Given the description of an element on the screen output the (x, y) to click on. 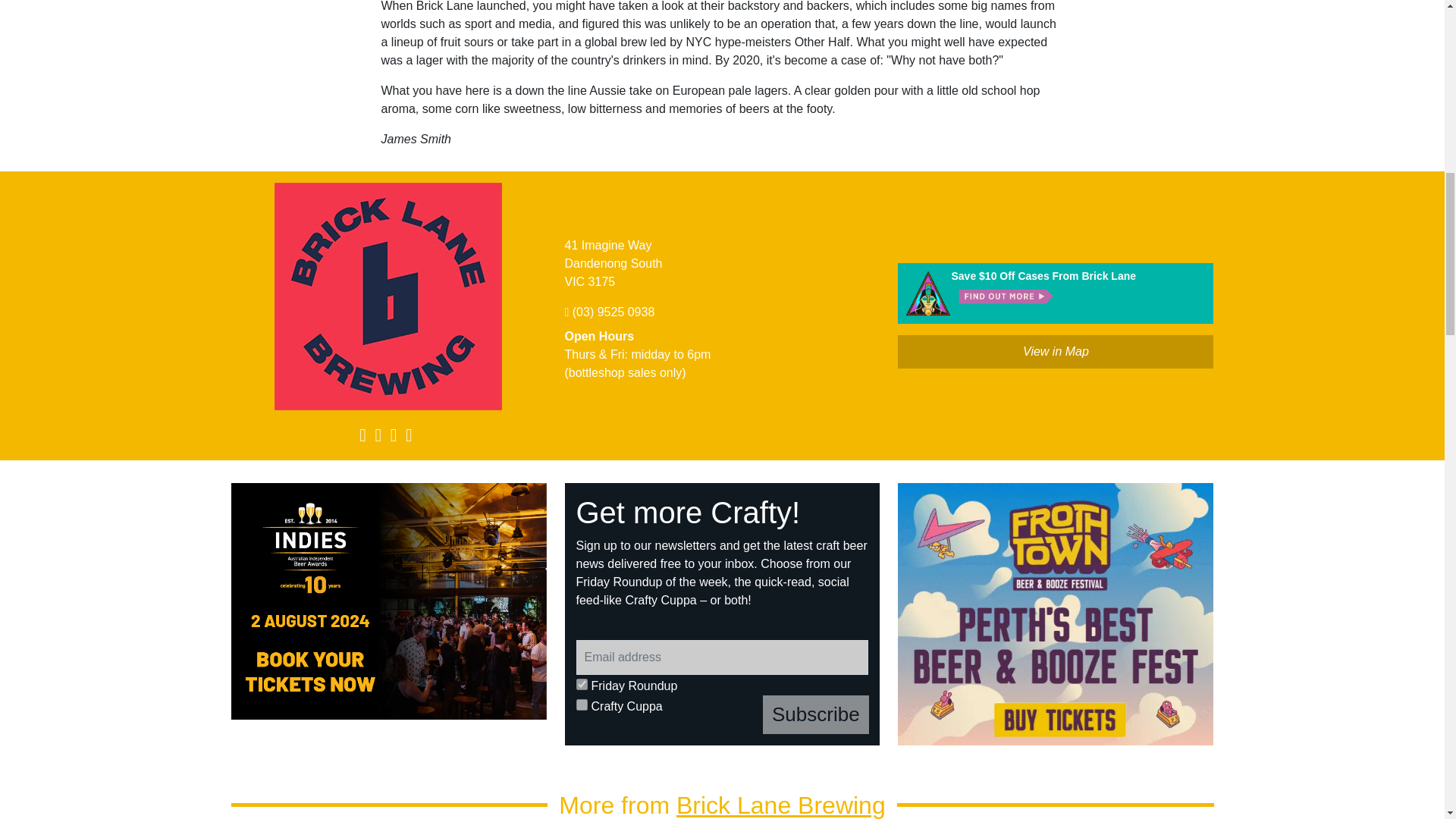
cuppa (582, 704)
Indies 2024 B (389, 601)
Froth Town 2024 B 2 (1055, 614)
Subscribe (815, 714)
friday (582, 684)
